Given the description of an element on the screen output the (x, y) to click on. 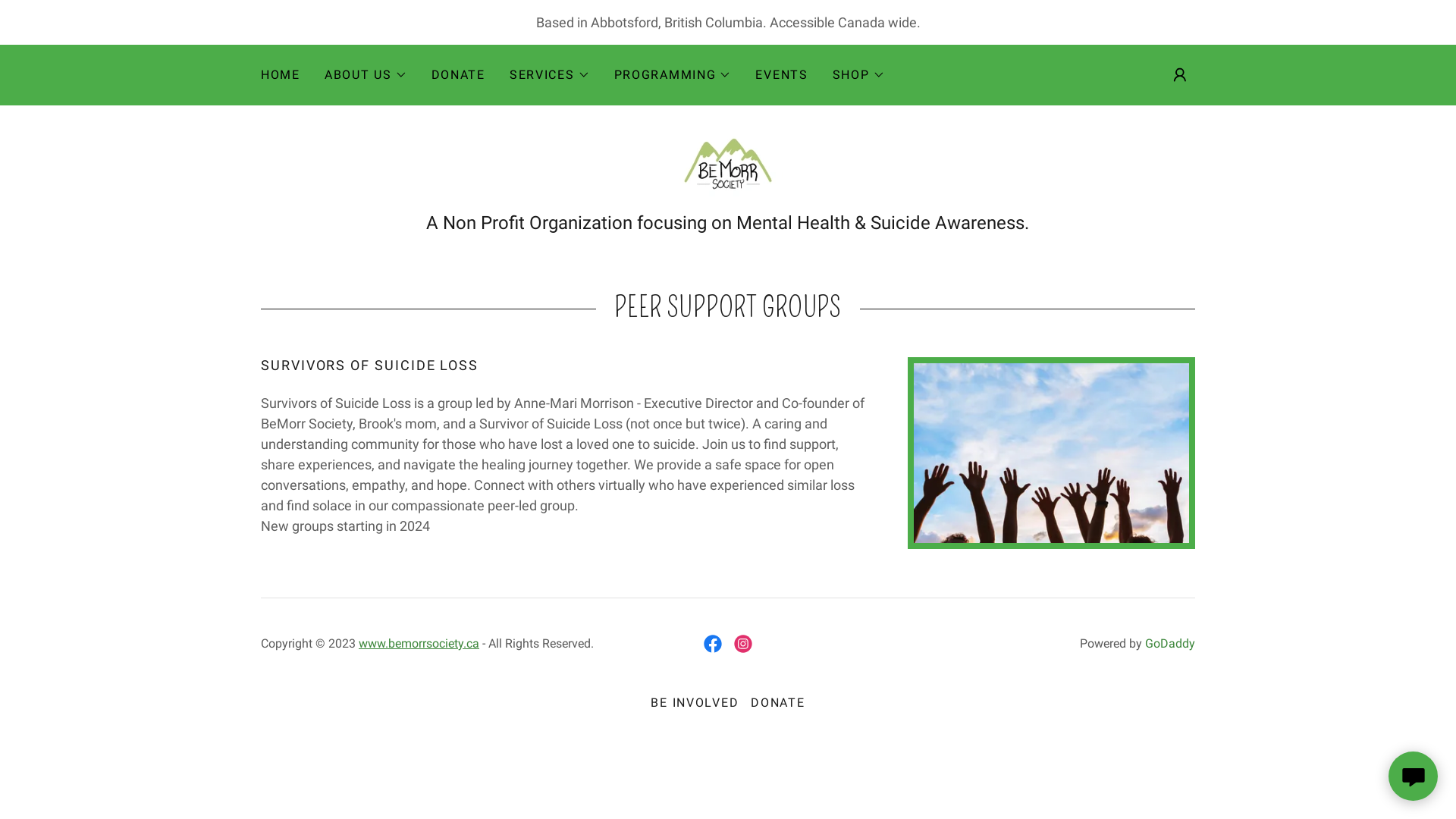
HOME Element type: text (280, 74)
GoDaddy Element type: text (1170, 643)
EVENTS Element type: text (781, 74)
DONATE Element type: text (777, 702)
bemorr society Element type: hover (727, 166)
BE INVOLVED Element type: text (694, 702)
www.bemorrsociety.ca Element type: text (418, 643)
ABOUT US Element type: text (365, 74)
PROGRAMMING Element type: text (672, 74)
SERVICES Element type: text (549, 74)
SHOP Element type: text (858, 74)
DONATE Element type: text (457, 74)
